Given the description of an element on the screen output the (x, y) to click on. 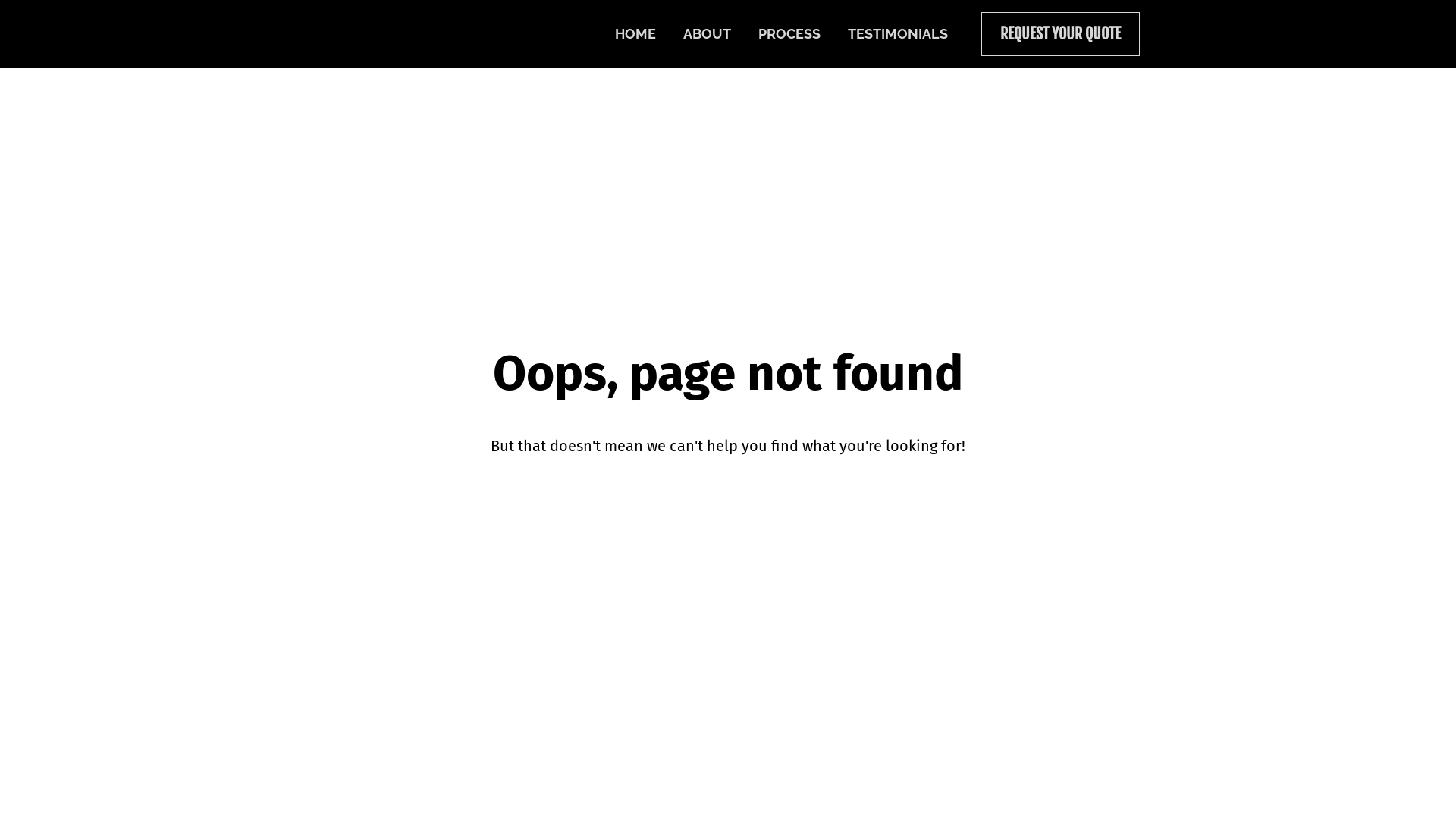
ABOUT Element type: text (707, 34)
TESTIMONIALS Element type: text (897, 34)
HOME Element type: text (635, 34)
REQUEST YOUR QUOTE Element type: text (1060, 34)
PROCESS Element type: text (789, 34)
